Given the description of an element on the screen output the (x, y) to click on. 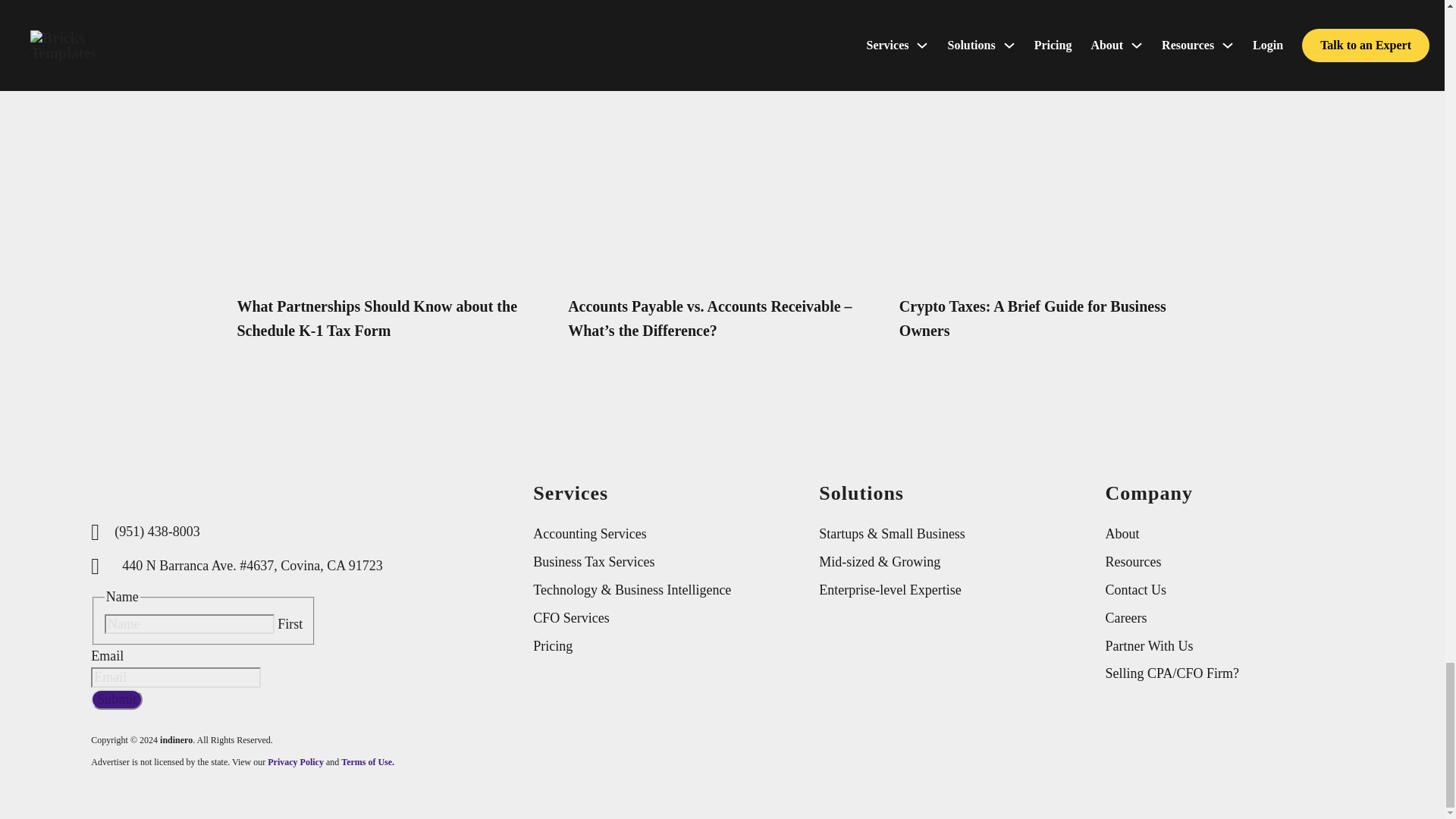
Submit (116, 699)
